Given the description of an element on the screen output the (x, y) to click on. 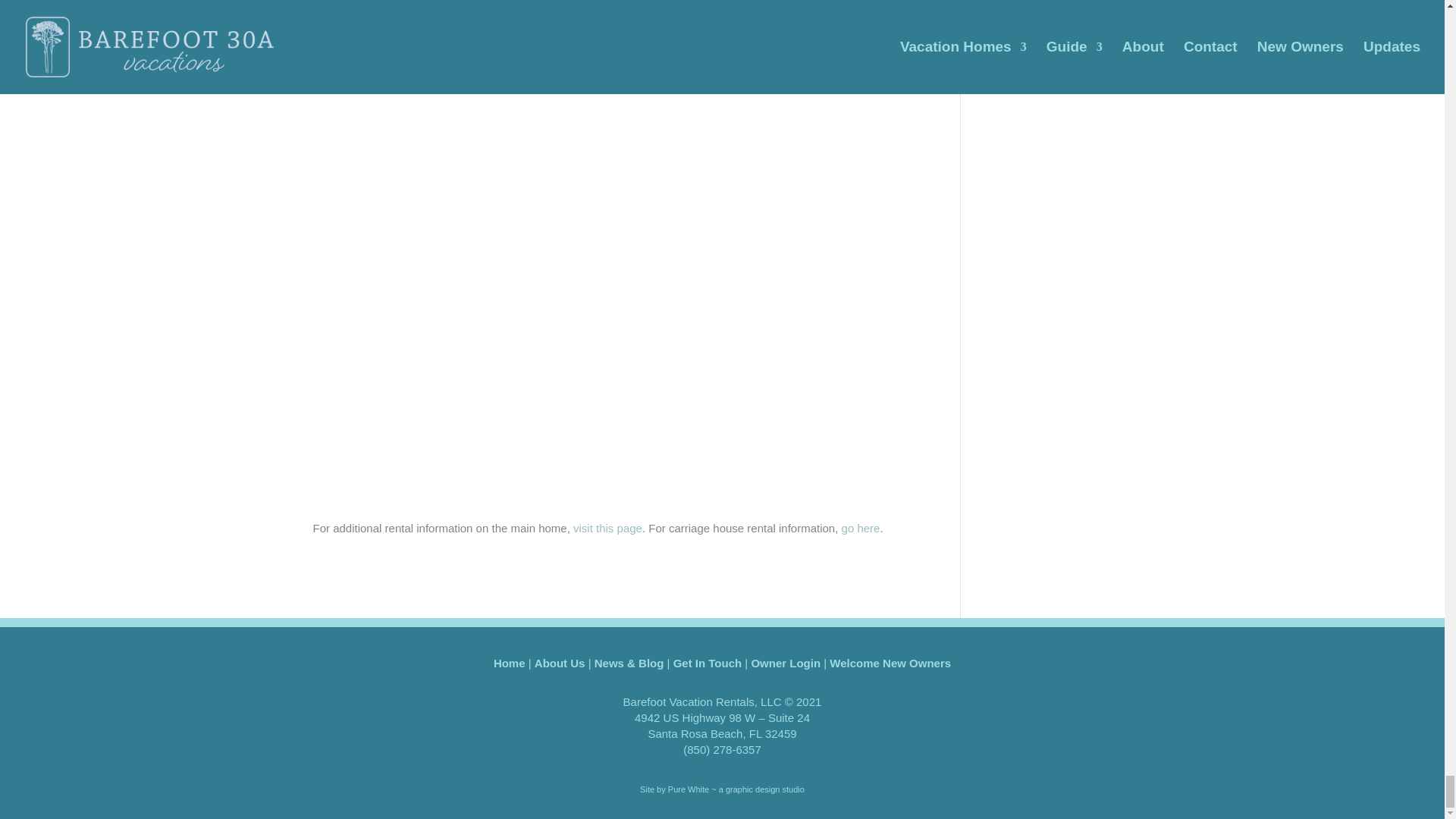
Santa Rosa Beach website design (722, 788)
